Given the description of an element on the screen output the (x, y) to click on. 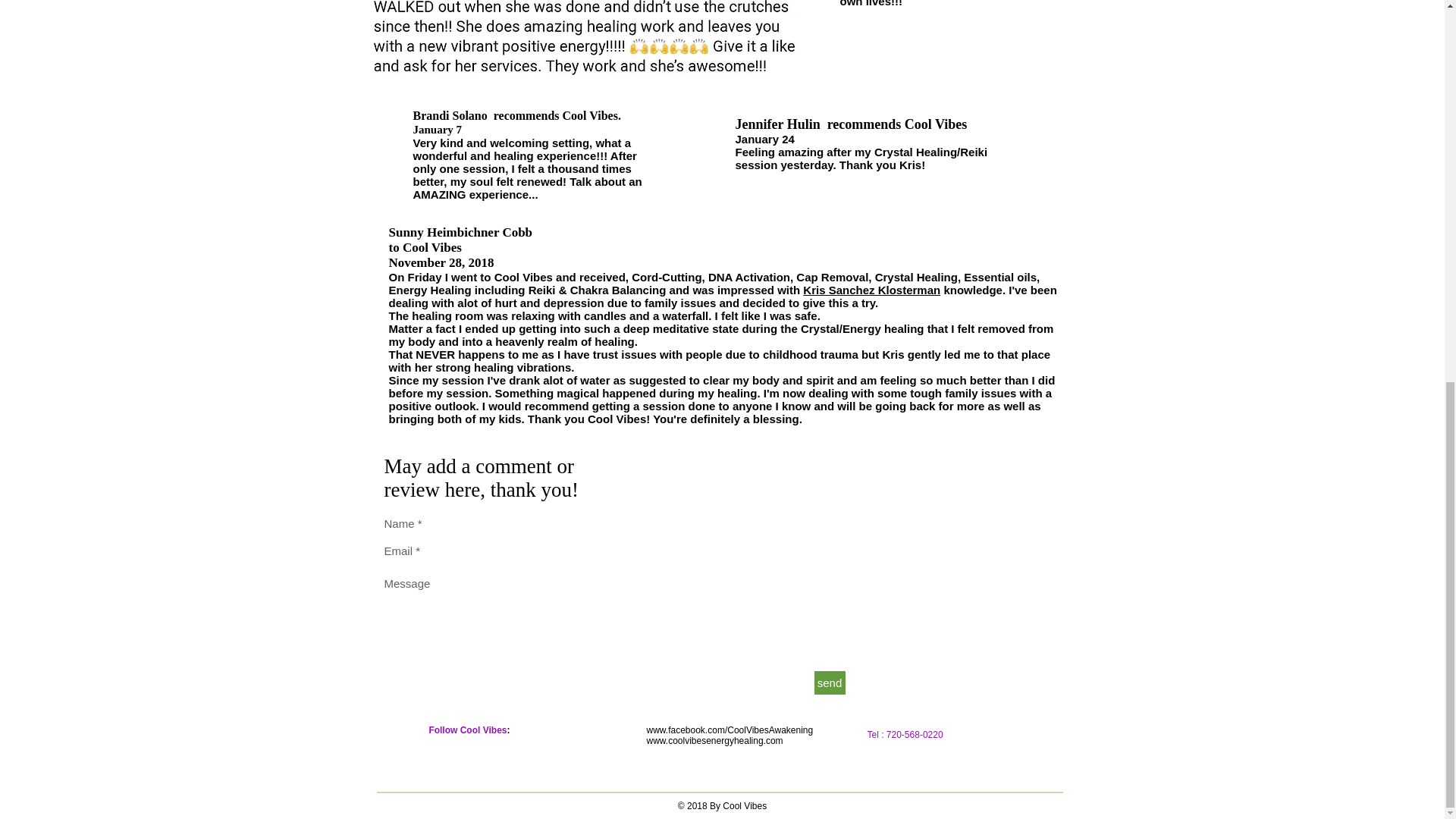
November 28, 2018 (440, 262)
send (829, 682)
March 9 at 6:46 AM (427, 4)
Sunny Heimbichner Cobb (460, 232)
January 7 (436, 129)
www.coolvibesenergyhealing.com (714, 740)
Kris Sanchez Klosterman (871, 289)
Cool Vibes (589, 115)
Jennifer Hulin (778, 124)
Cool Vibes (936, 124)
Cool Vibes (432, 247)
January 24 (764, 138)
Brandi Solano (449, 115)
